Given the description of an element on the screen output the (x, y) to click on. 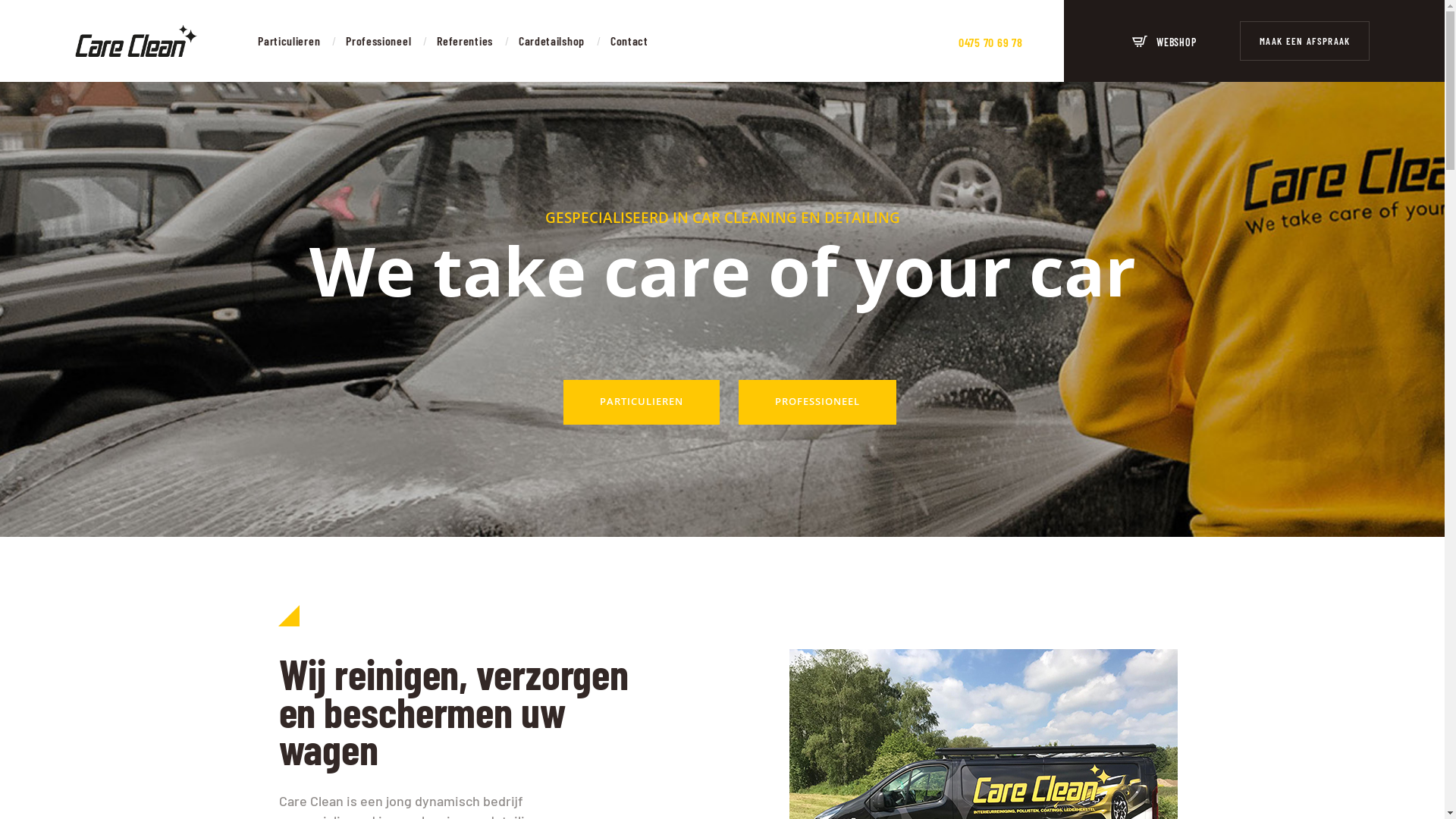
Referenties Element type: text (464, 41)
Professioneel Element type: text (377, 41)
Cardetailshop Element type: text (551, 41)
MAAK EEN AFSPRAAK Element type: text (1304, 40)
0475 70 69 78 Element type: text (990, 41)
WEBSHOP Element type: text (1164, 40)
Particulieren Element type: text (288, 41)
Contact Element type: text (629, 41)
